Given the description of an element on the screen output the (x, y) to click on. 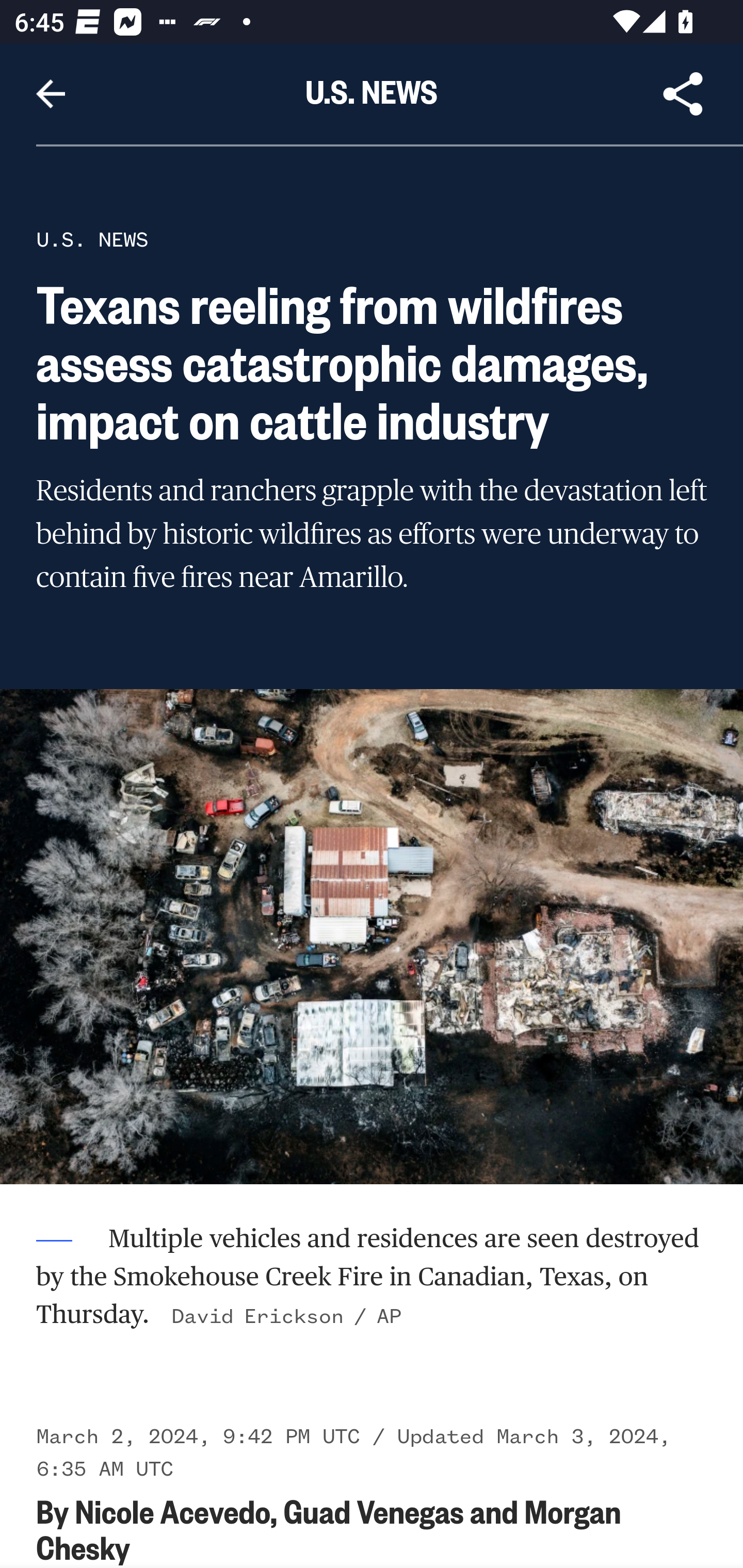
Navigate up (50, 93)
Share Article, button (683, 94)
U.S. NEWS (91, 239)
